Given the description of an element on the screen output the (x, y) to click on. 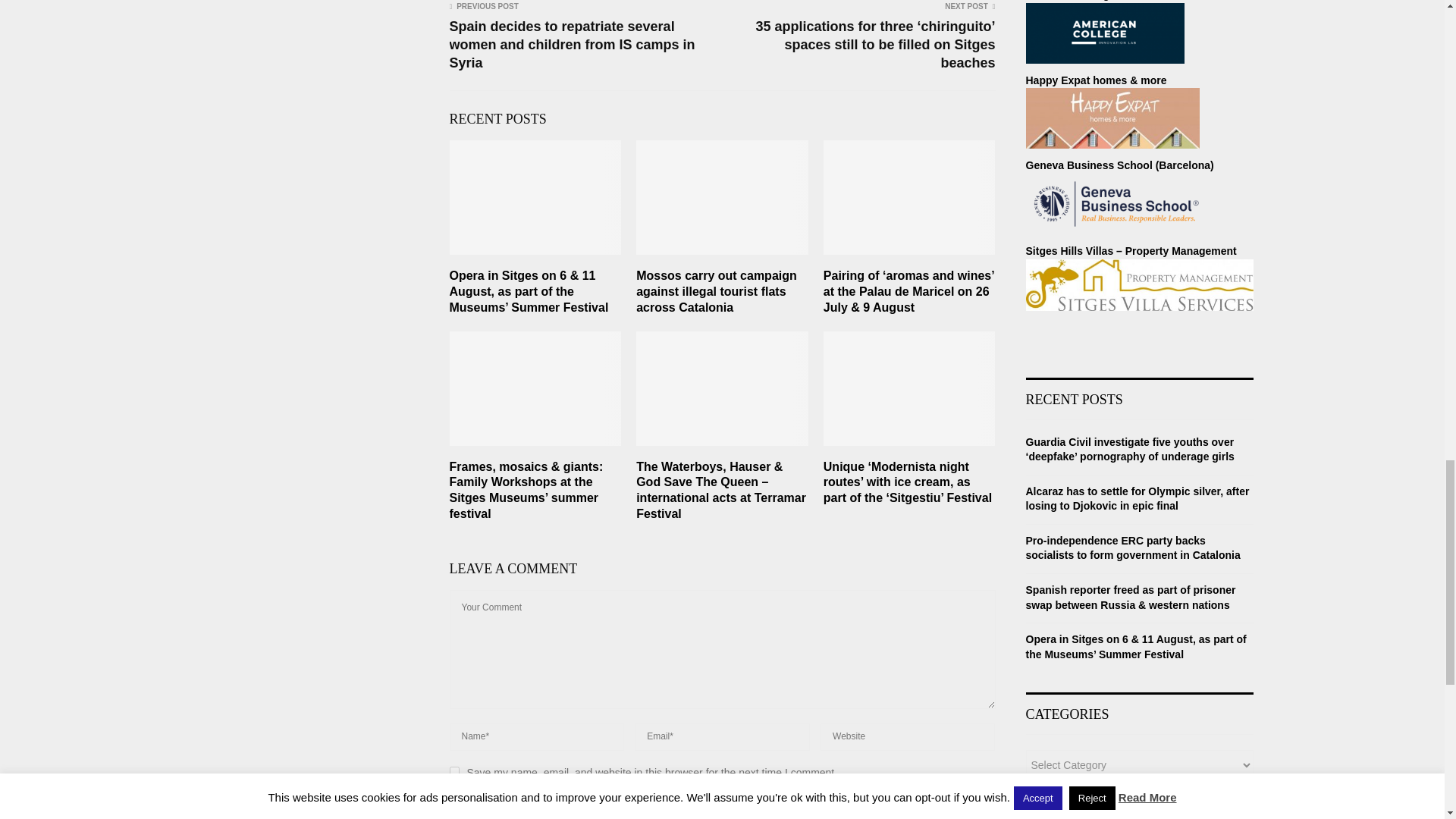
Submit (483, 807)
yes (453, 771)
